Given the description of an element on the screen output the (x, y) to click on. 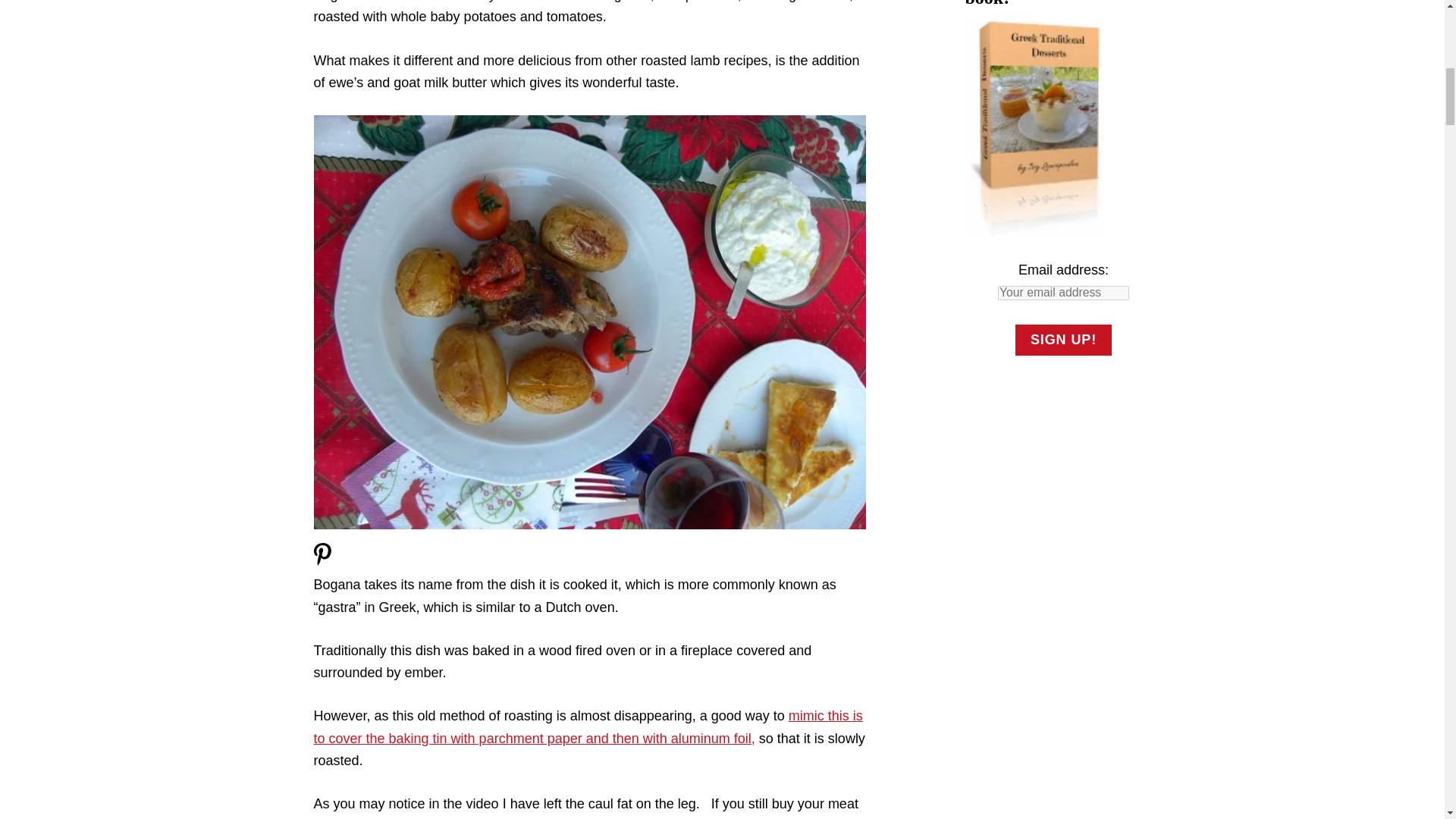
Sign Up! (1063, 339)
